Given the description of an element on the screen output the (x, y) to click on. 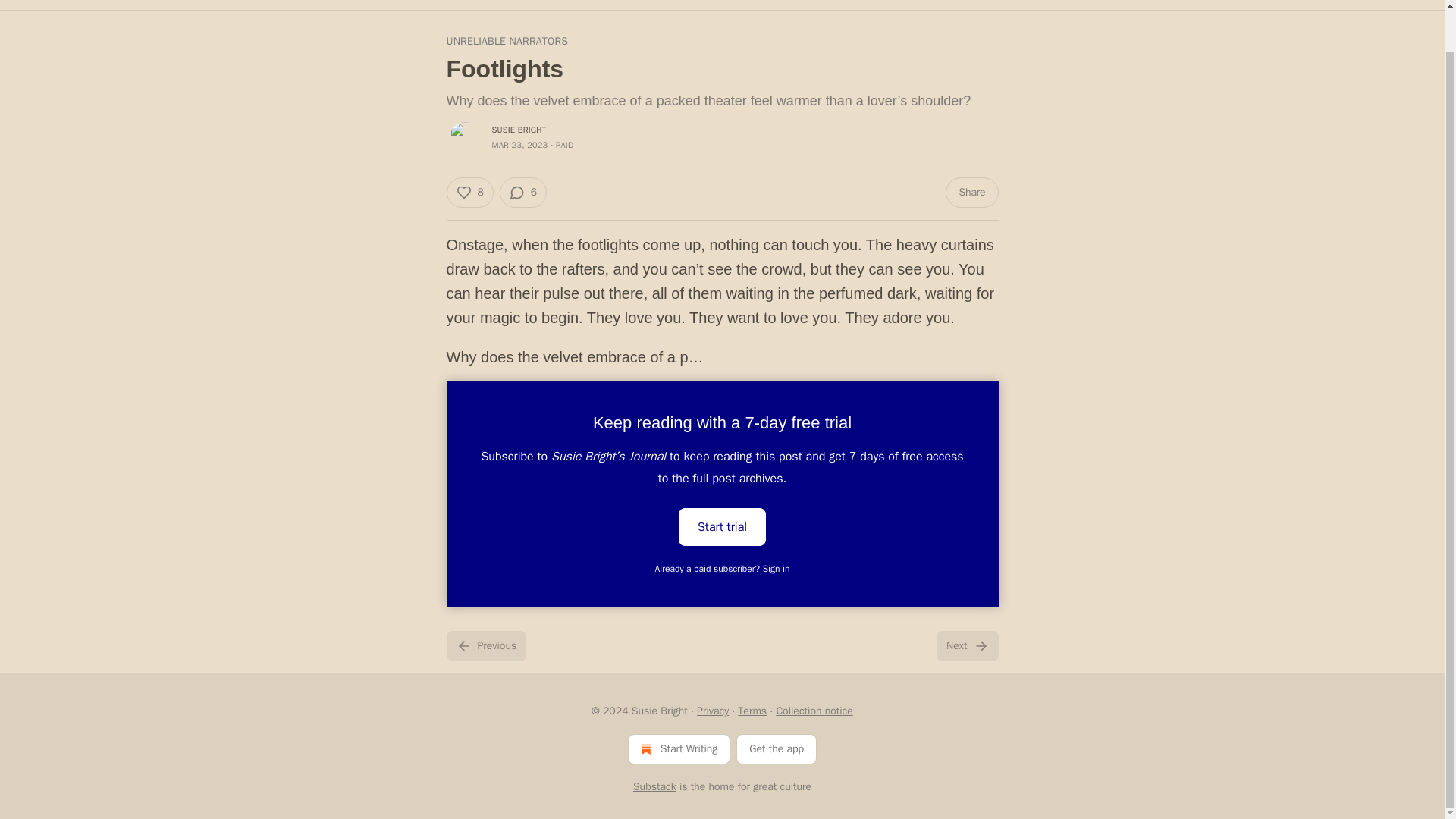
Previous (485, 645)
Share (970, 192)
Collection notice (813, 710)
Already a paid subscriber? Sign in (722, 568)
Substack (655, 786)
Next (966, 645)
Terms (752, 710)
6 (523, 192)
8 (469, 192)
UNRELIABLE NARRATORS (506, 41)
